Given the description of an element on the screen output the (x, y) to click on. 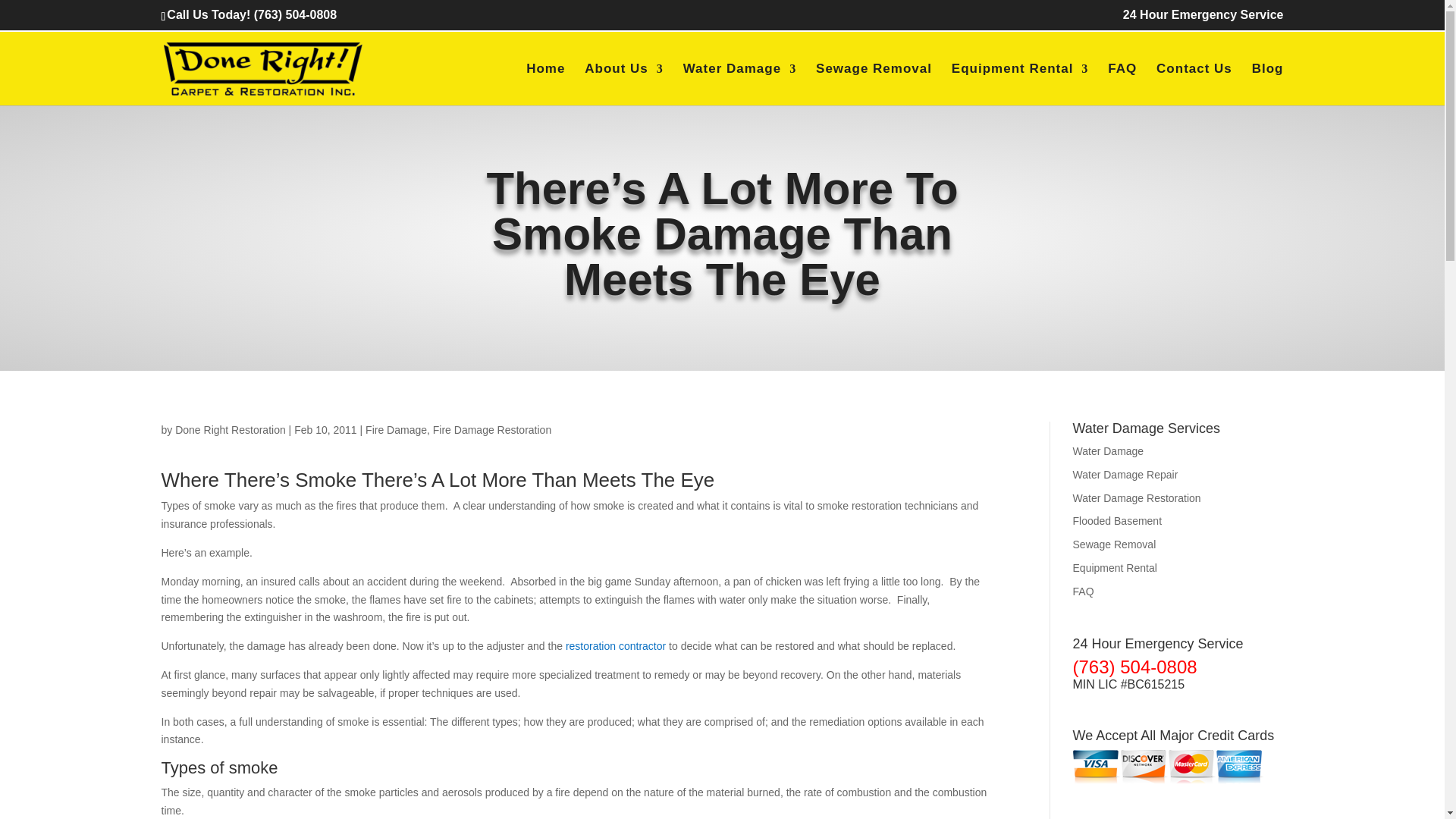
24 Hour Emergency Service (1203, 19)
Contact Us (1193, 83)
Sewage Removal (873, 83)
Water Damage (739, 83)
Home (544, 83)
Fire and Smoke Damage (615, 645)
Posts by Done Right Restoration (229, 429)
Equipment Rental (1020, 83)
About Us (624, 83)
